Given the description of an element on the screen output the (x, y) to click on. 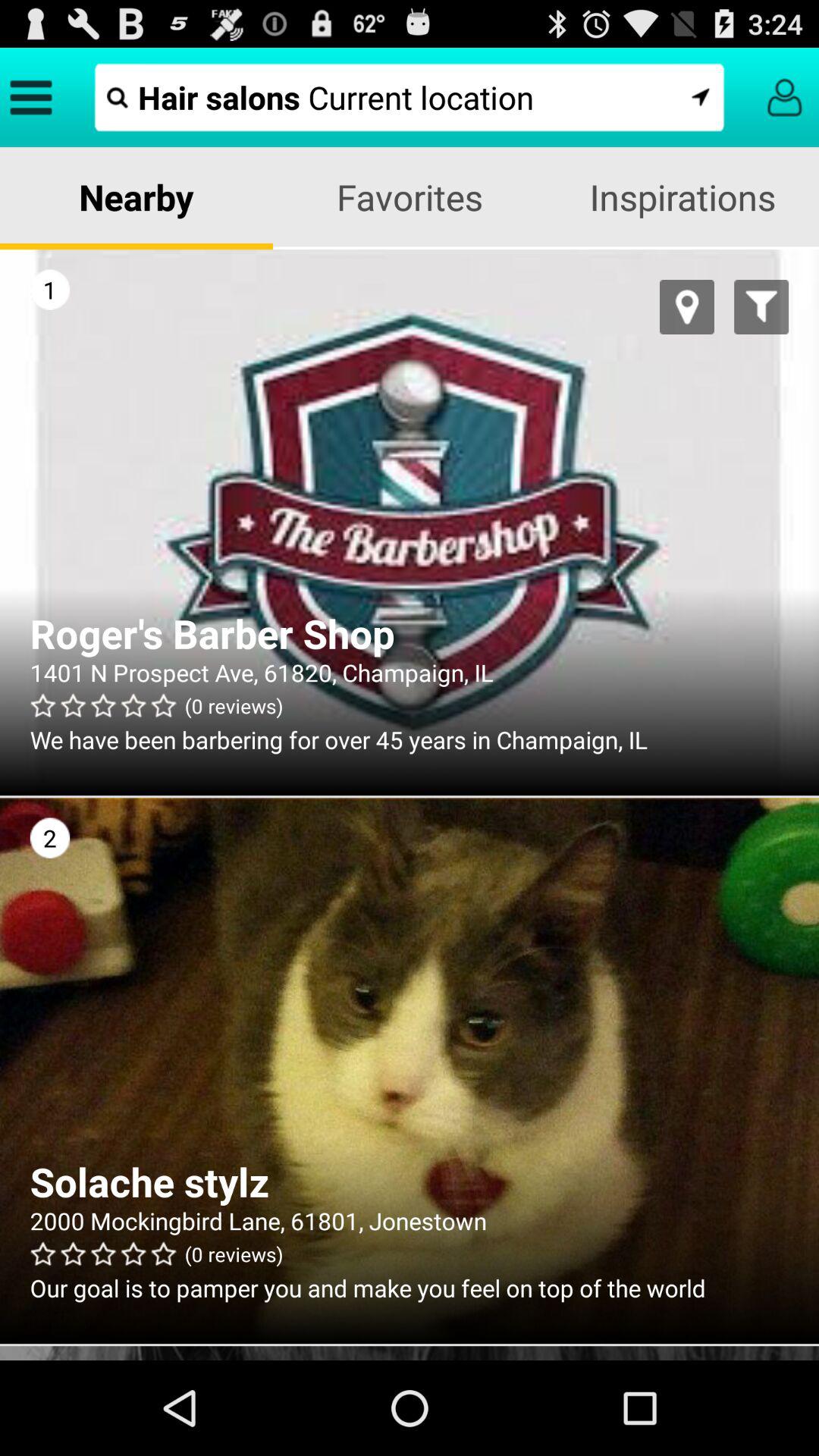
click the our goal is (409, 1287)
